Given the description of an element on the screen output the (x, y) to click on. 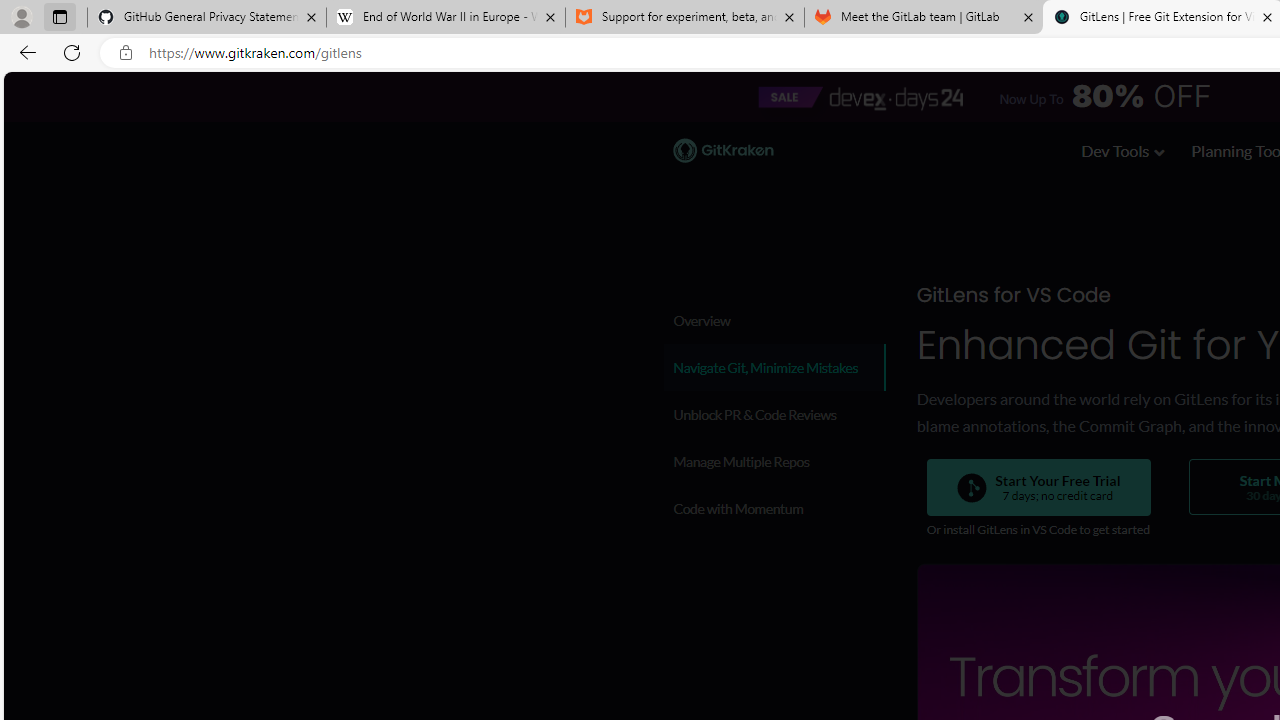
Code with Momentum (773, 508)
End of World War II in Europe - Wikipedia (445, 17)
Unblock PR & Code Reviews (774, 413)
Navigate Git, Minimize Mistakes (774, 367)
GitHub General Privacy Statement - GitHub Docs (207, 17)
Manage Multiple Repos (773, 461)
